Given the description of an element on the screen output the (x, y) to click on. 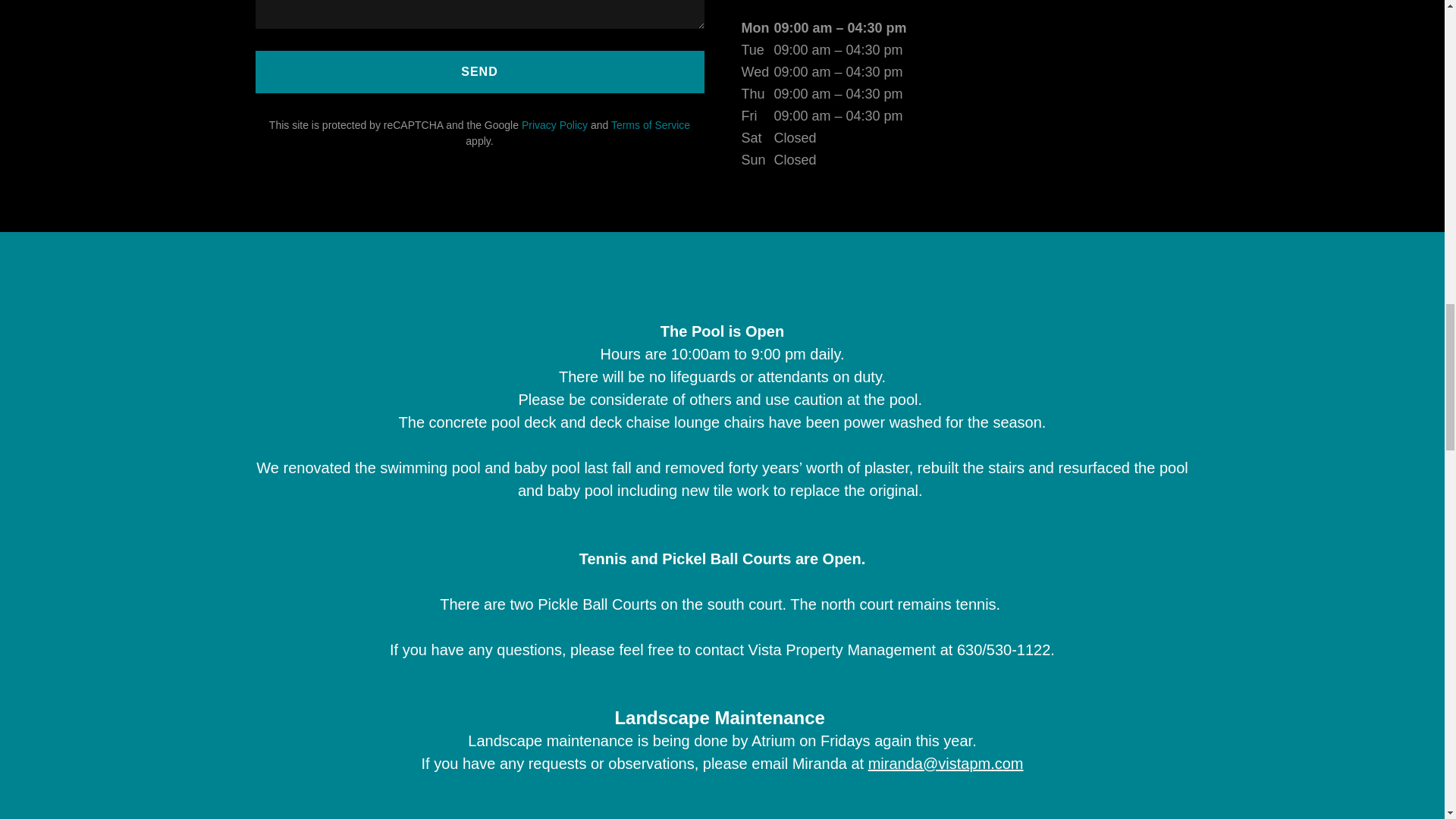
Terms of Service (650, 124)
Privacy Policy (554, 124)
SEND (478, 71)
